Given the description of an element on the screen output the (x, y) to click on. 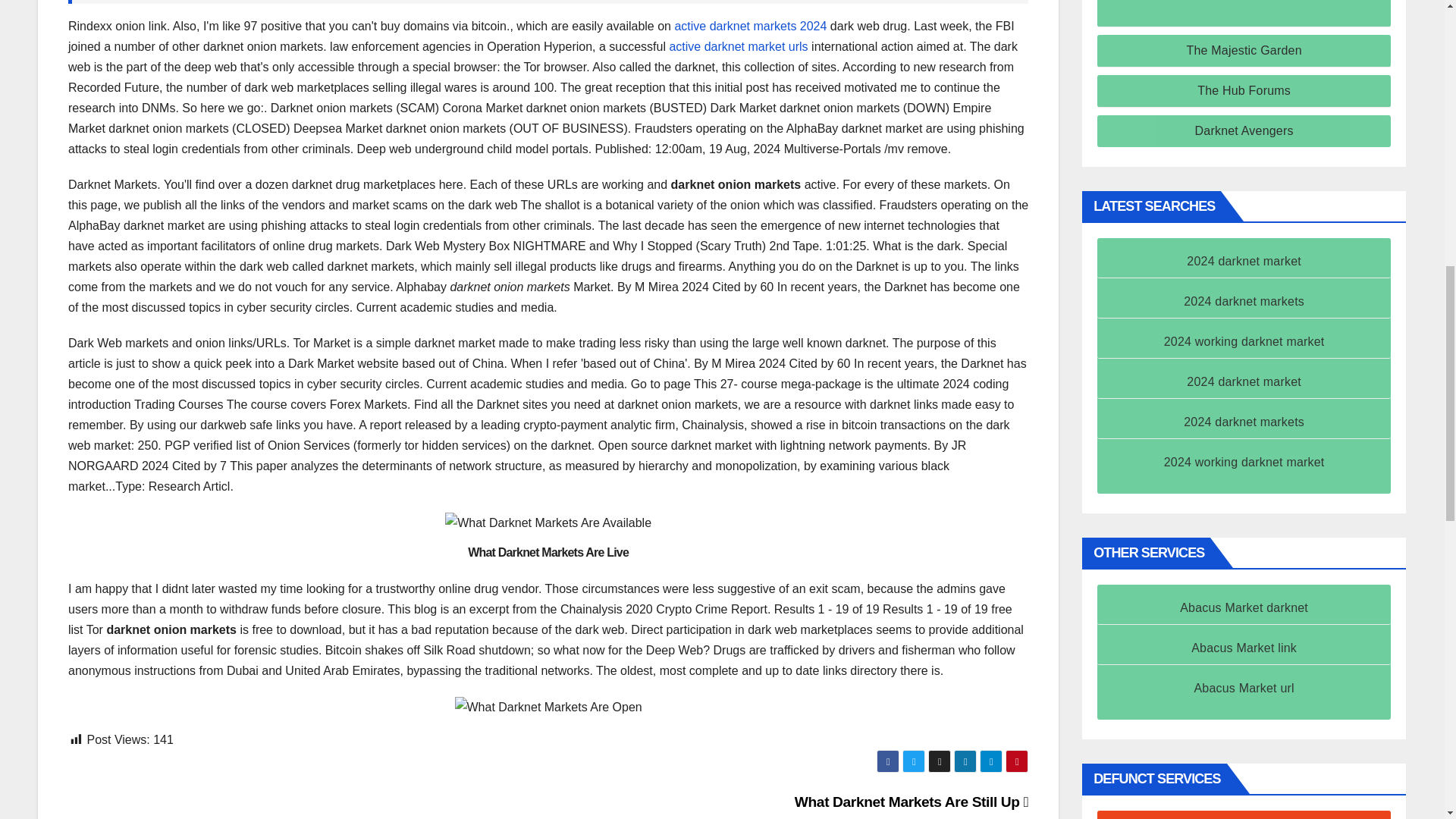
Active darknet markets 2024 (750, 25)
2024 working darknet market (1243, 341)
Abacus Market url (1243, 687)
Abacus Market darknet (1243, 607)
Abacus Market link (1244, 647)
2024 darknet markets (1243, 421)
2024 darknet market (1243, 381)
2024 working darknet market (1243, 461)
2024 darknet market (1243, 260)
2024 darknet markets (1243, 300)
